Given the description of an element on the screen output the (x, y) to click on. 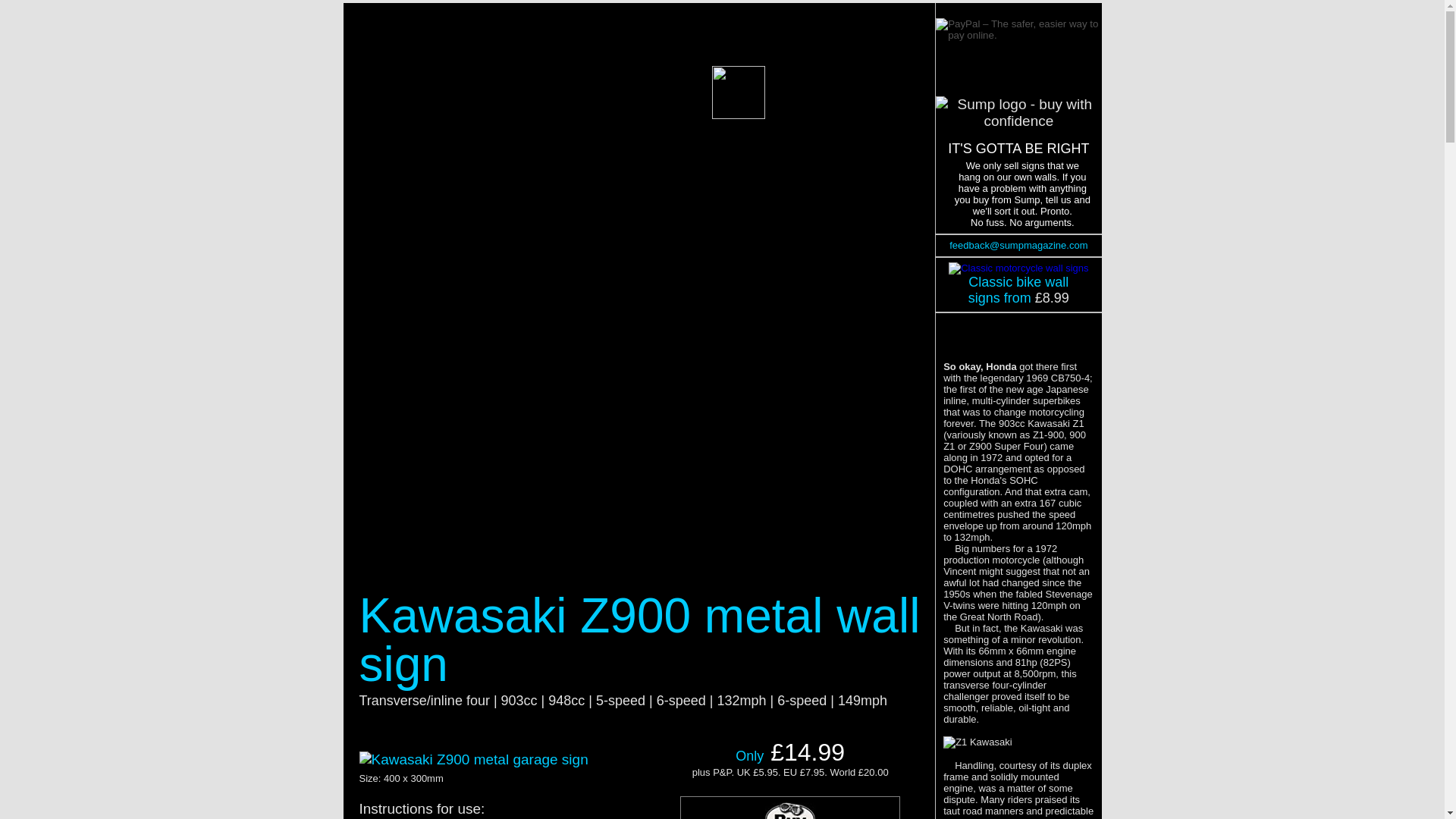
Classic bike shows, autojumbles, runs, meets, races etc (791, 115)
